Given the description of an element on the screen output the (x, y) to click on. 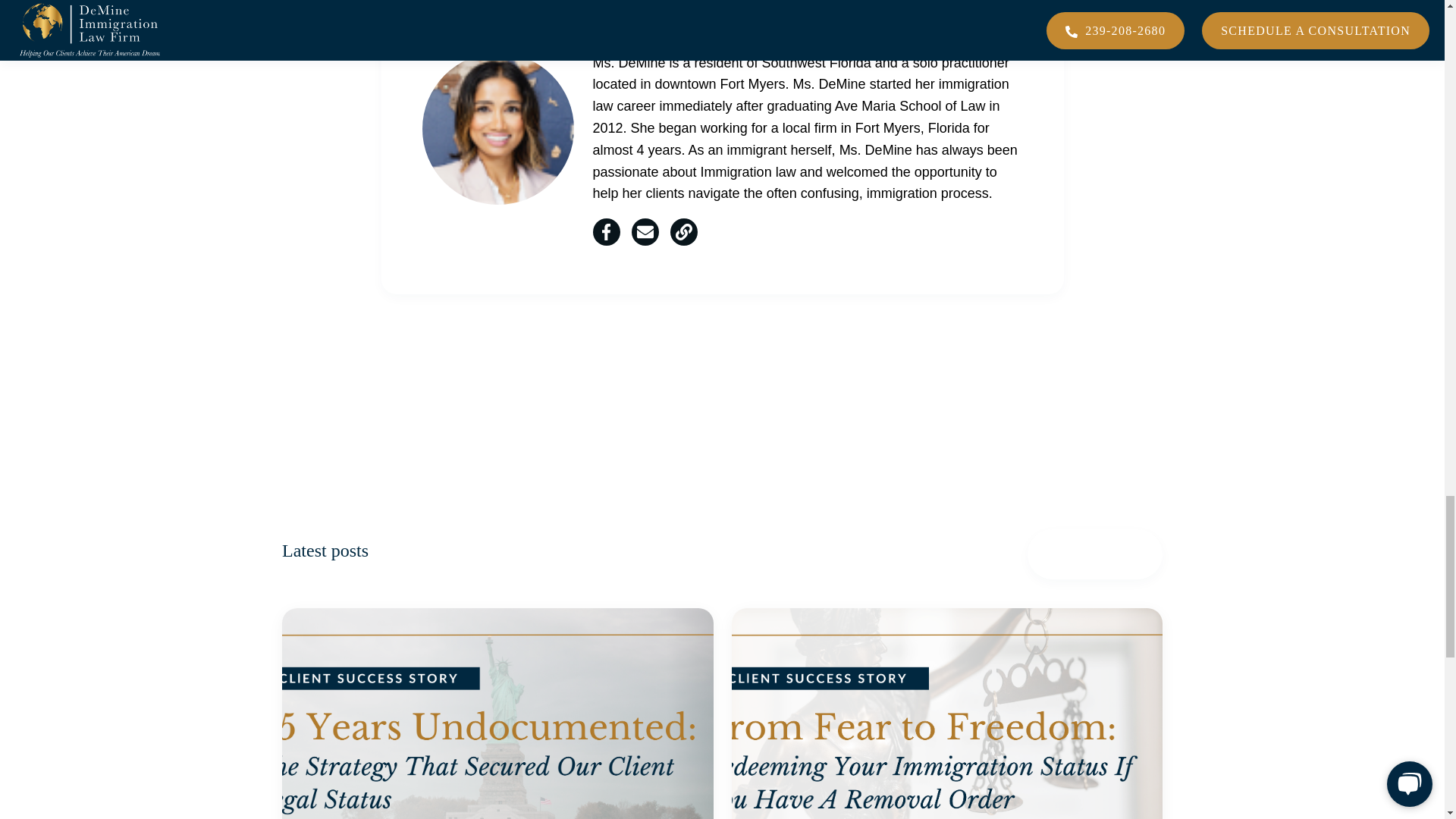
ALL POSTS (1094, 554)
